Given the description of an element on the screen output the (x, y) to click on. 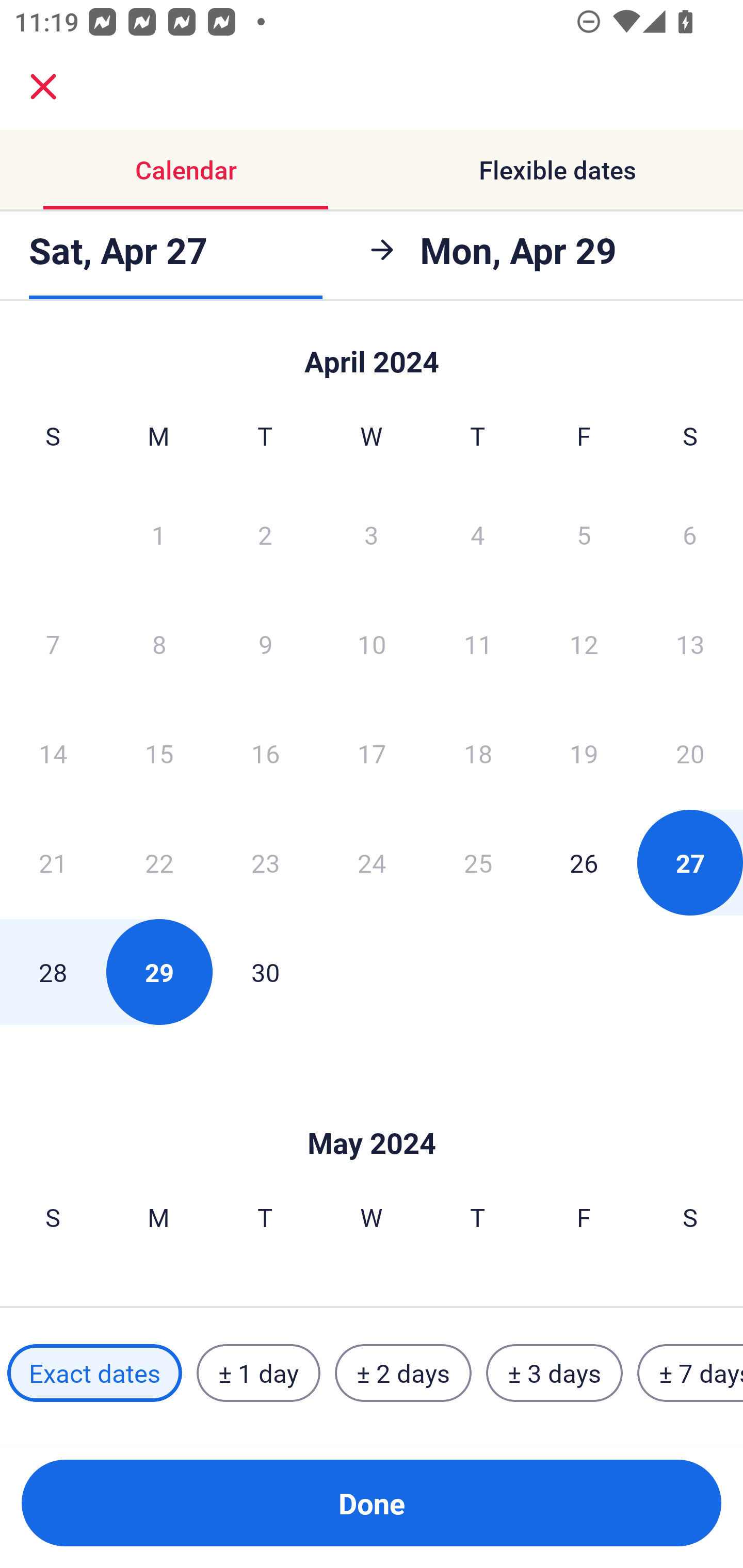
close. (43, 86)
Flexible dates (557, 170)
Skip to Done (371, 352)
1 Monday, April 1, 2024 (158, 534)
2 Tuesday, April 2, 2024 (264, 534)
3 Wednesday, April 3, 2024 (371, 534)
4 Thursday, April 4, 2024 (477, 534)
5 Friday, April 5, 2024 (583, 534)
6 Saturday, April 6, 2024 (689, 534)
7 Sunday, April 7, 2024 (53, 643)
8 Monday, April 8, 2024 (159, 643)
9 Tuesday, April 9, 2024 (265, 643)
10 Wednesday, April 10, 2024 (371, 643)
11 Thursday, April 11, 2024 (477, 643)
12 Friday, April 12, 2024 (584, 643)
13 Saturday, April 13, 2024 (690, 643)
14 Sunday, April 14, 2024 (53, 752)
15 Monday, April 15, 2024 (159, 752)
16 Tuesday, April 16, 2024 (265, 752)
17 Wednesday, April 17, 2024 (371, 752)
18 Thursday, April 18, 2024 (477, 752)
19 Friday, April 19, 2024 (584, 752)
20 Saturday, April 20, 2024 (690, 752)
21 Sunday, April 21, 2024 (53, 862)
22 Monday, April 22, 2024 (159, 862)
23 Tuesday, April 23, 2024 (265, 862)
24 Wednesday, April 24, 2024 (371, 862)
25 Thursday, April 25, 2024 (477, 862)
26 Friday, April 26, 2024 (584, 862)
30 Tuesday, April 30, 2024 (265, 971)
Skip to Done (371, 1112)
Exact dates (94, 1372)
± 1 day (258, 1372)
± 2 days (403, 1372)
± 3 days (553, 1372)
± 7 days (690, 1372)
Done (371, 1502)
